Given the description of an element on the screen output the (x, y) to click on. 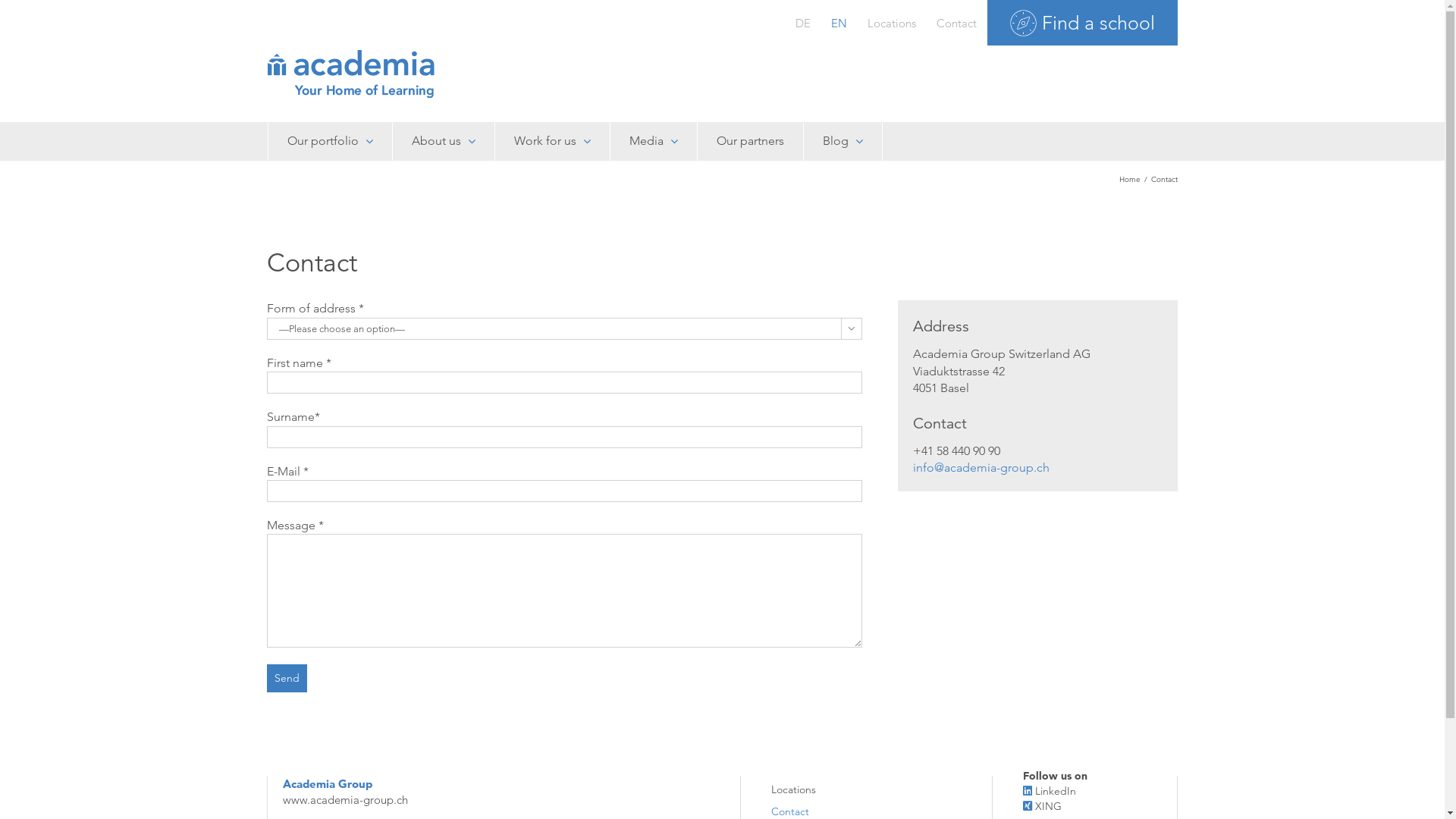
Locations Element type: text (890, 22)
info@academia-group.ch Element type: text (981, 467)
Media Element type: text (653, 141)
Home Element type: text (1129, 177)
Blog Element type: text (842, 141)
Our partners Element type: text (749, 141)
Contact Element type: text (956, 22)
www.academia-group.ch Element type: text (344, 799)
Find a school Element type: text (1082, 22)
Our portfolio Element type: text (329, 141)
DE Element type: text (802, 22)
About us Element type: text (442, 141)
EN Element type: text (838, 22)
Work for us Element type: text (552, 141)
Locations Element type: text (840, 787)
LinkedIn Element type: text (1055, 790)
Send Element type: text (286, 678)
XING Element type: text (1048, 805)
